Given the description of an element on the screen output the (x, y) to click on. 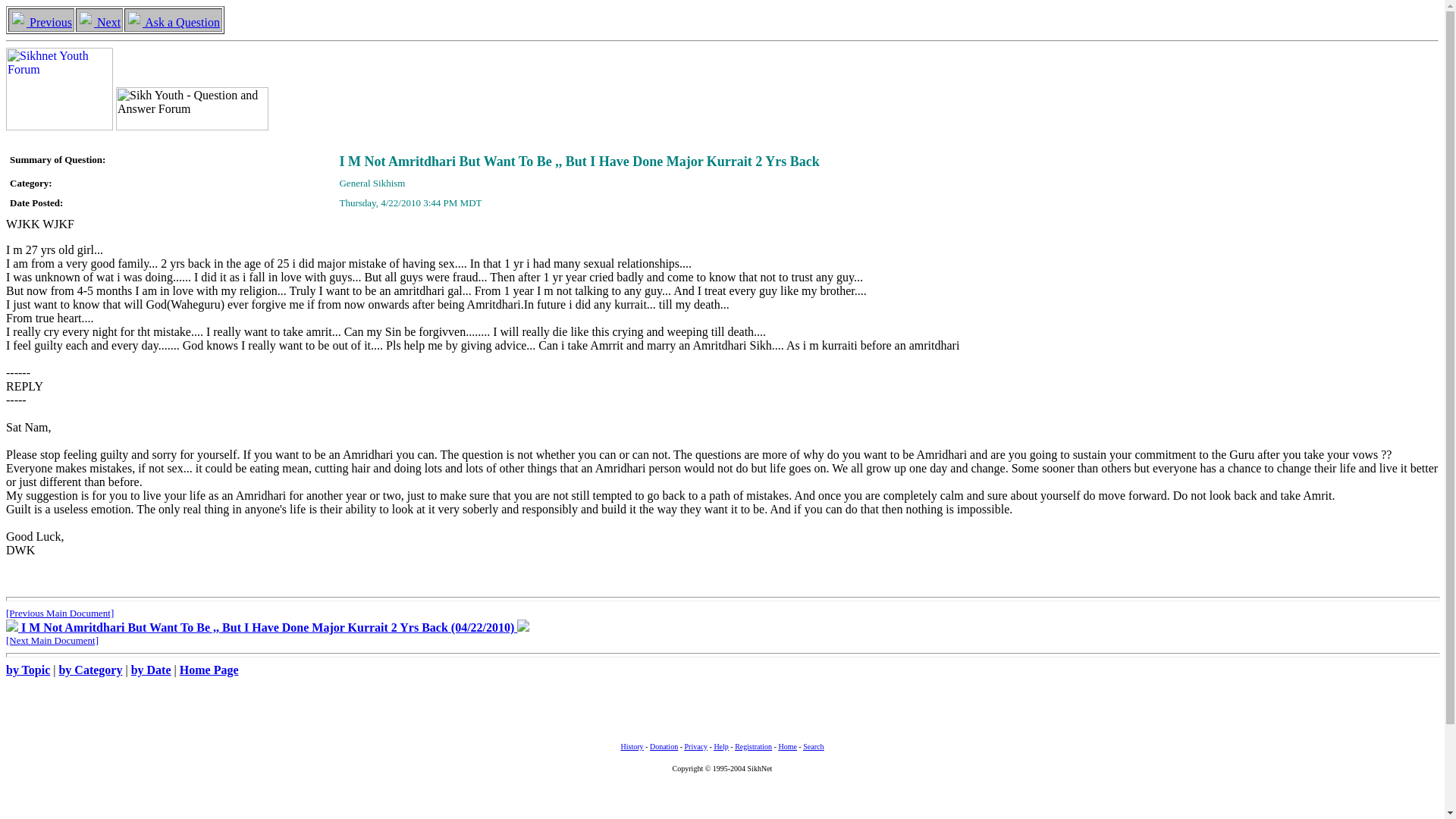
Ask a Question (172, 21)
Home Page (208, 669)
Home (786, 744)
by Topic (27, 669)
History (632, 744)
Privacy (695, 744)
Registration (753, 744)
Help (720, 744)
by Category (90, 669)
by Date (151, 669)
Donation (663, 744)
Previous (40, 21)
Next (99, 21)
Search (813, 744)
